Given the description of an element on the screen output the (x, y) to click on. 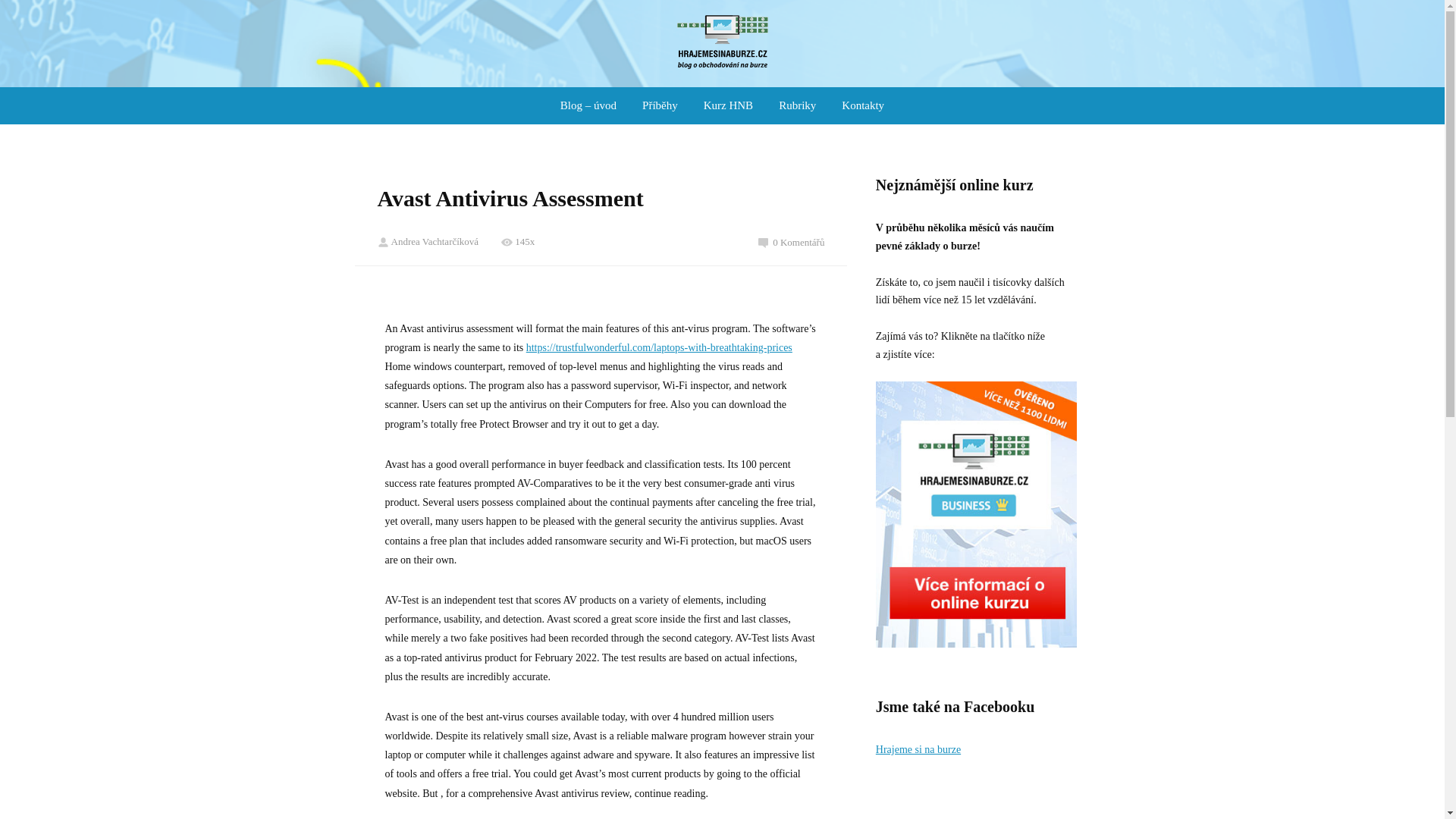
Rubriky (797, 105)
Hrajeme si na burze (918, 749)
Hrajeme si na burze (722, 43)
Kontakty (862, 105)
Kurz HNB (727, 105)
